Given the description of an element on the screen output the (x, y) to click on. 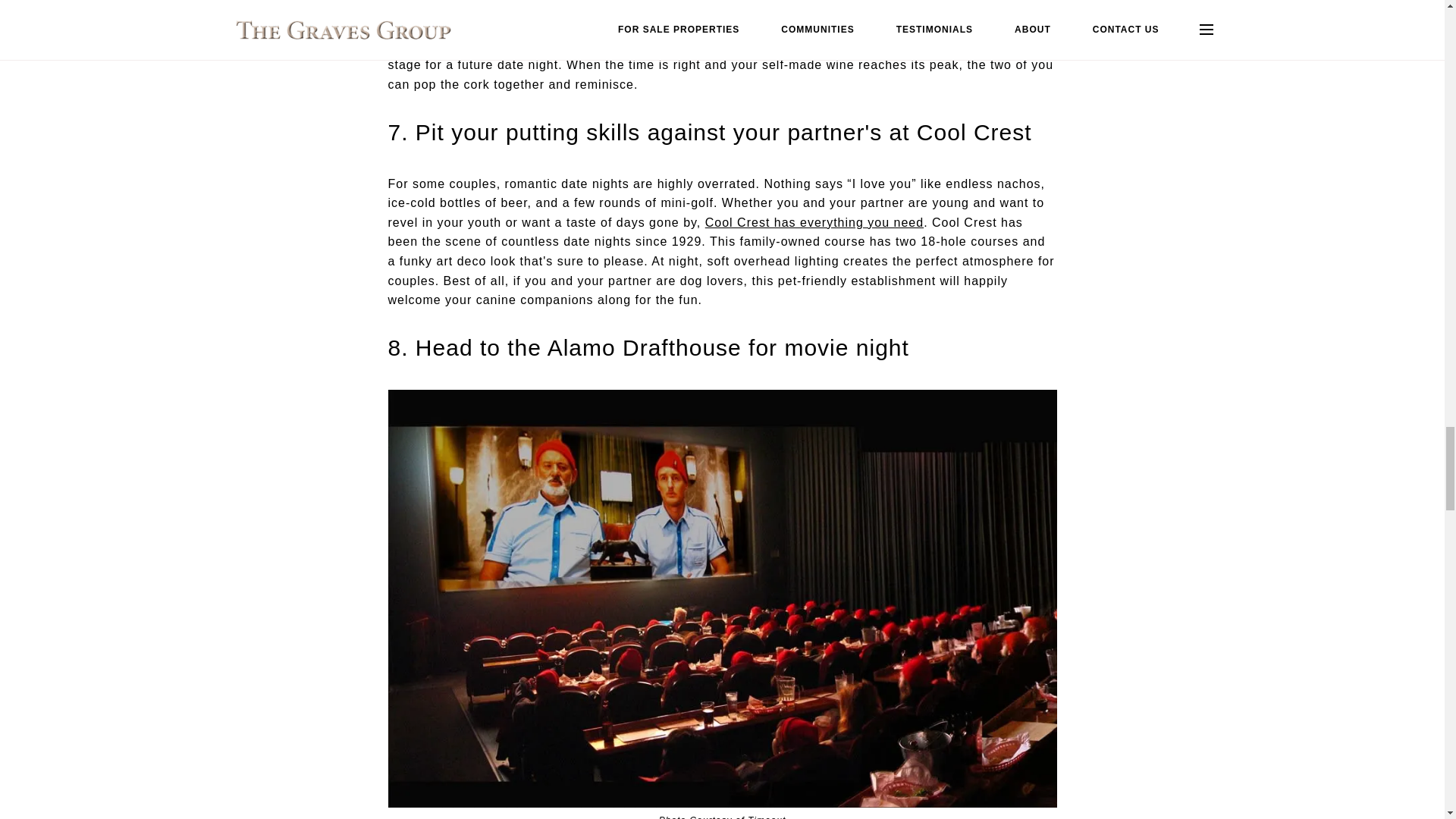
Cool Crest has everything you need (813, 222)
